Given the description of an element on the screen output the (x, y) to click on. 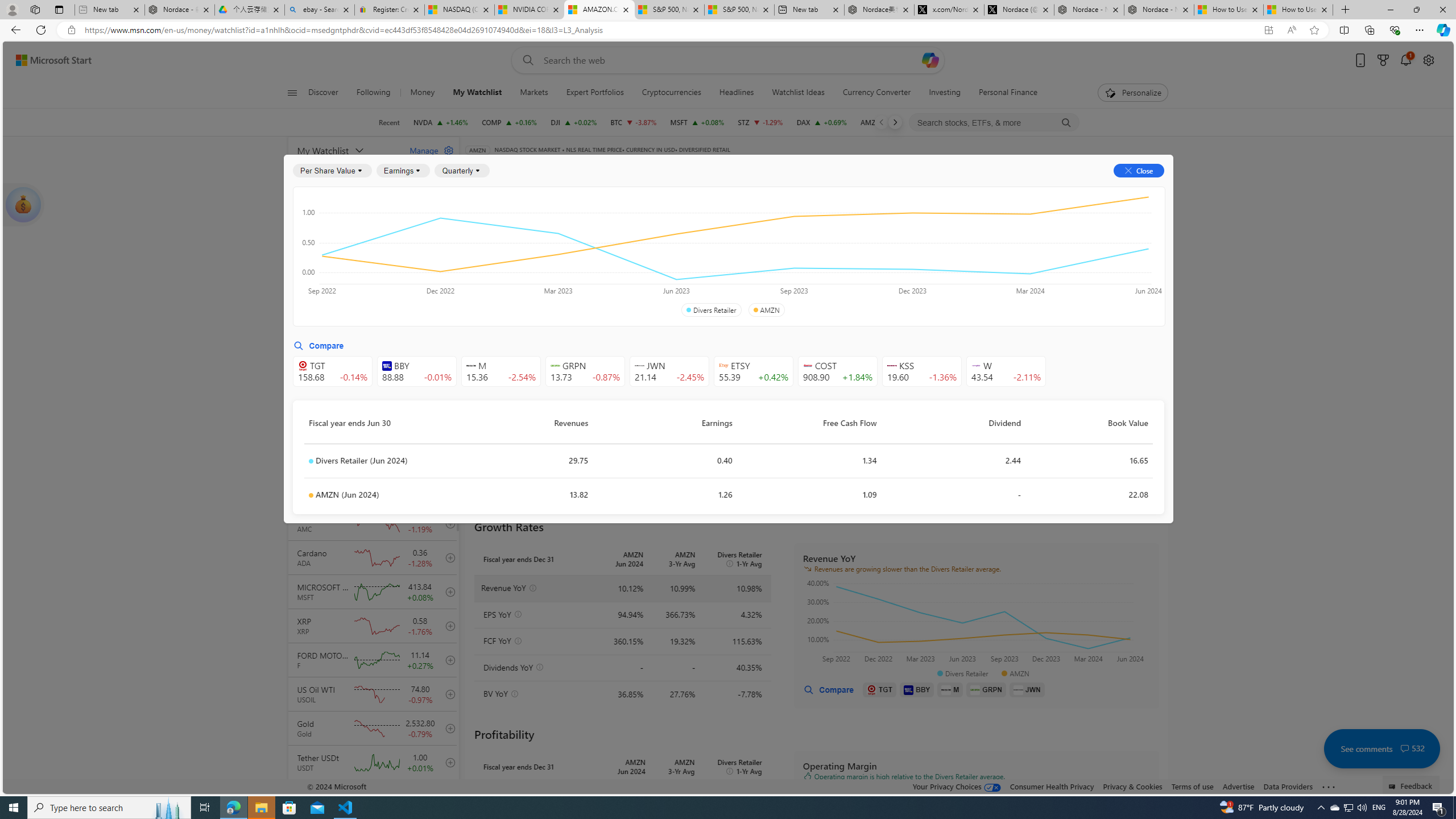
Address and search bar (669, 29)
Class: symbolDot-DS-EntryPoint1-2 (310, 495)
Currency Converter (876, 92)
Watchlist (654, 166)
Microsoft rewards (1382, 60)
TGT (879, 689)
Headlines (736, 92)
Discover (327, 92)
Class: imagIcon-DS-EntryPoint1-1 (1018, 689)
STZ CONSTELLATION BRANDS, INC. decrease 239.98 -3.13 -1.29% (760, 122)
Money (422, 92)
